Given the description of an element on the screen output the (x, y) to click on. 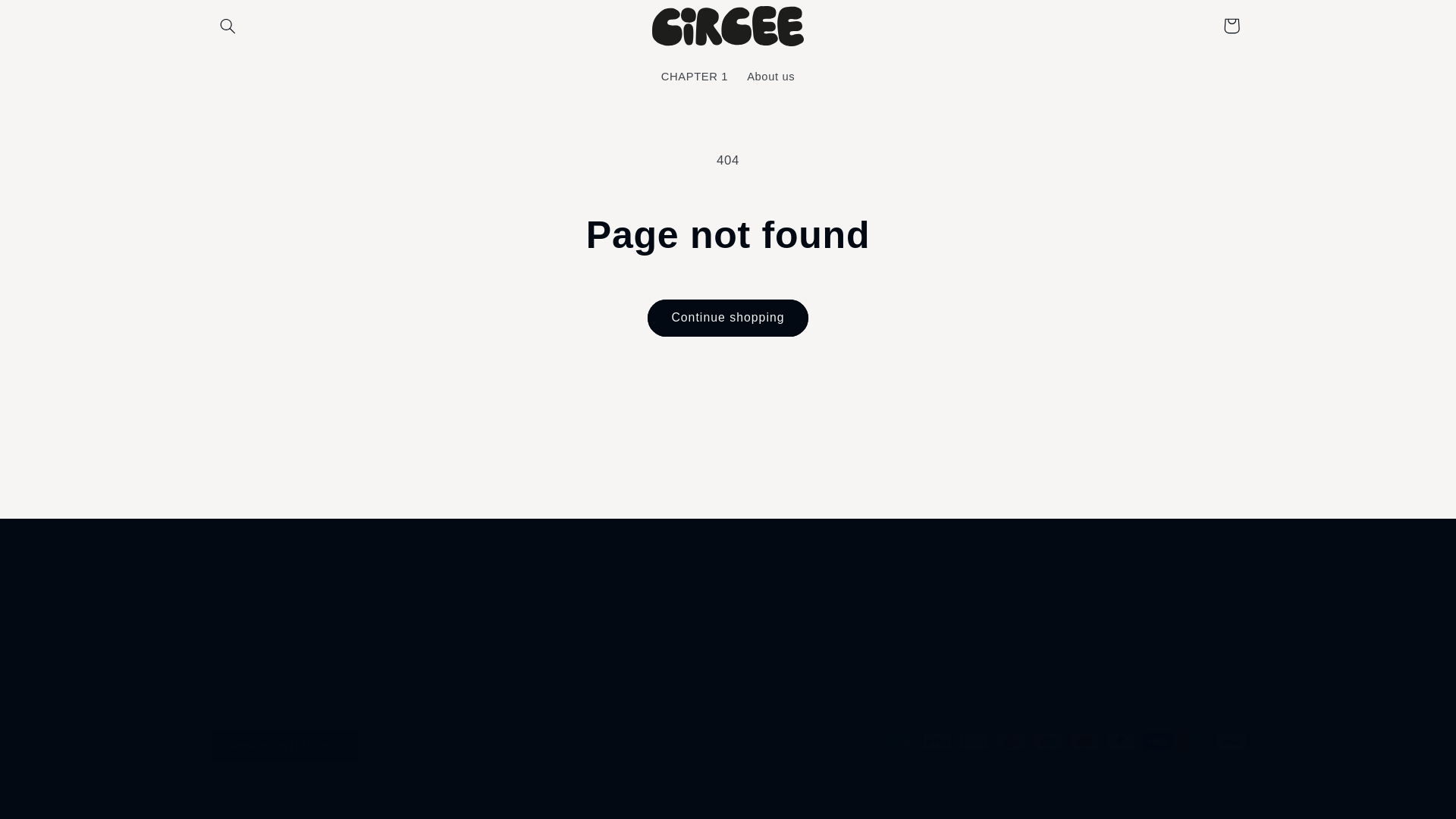
Continue shopping (727, 317)
Cart (1231, 25)
Terms of service (608, 802)
How it works (660, 625)
Refund policy (449, 802)
Powered by Shopify (358, 801)
Catalogue (739, 625)
CHAPTER 1 (693, 77)
CiRCEE CLuB (279, 801)
